Given the description of an element on the screen output the (x, y) to click on. 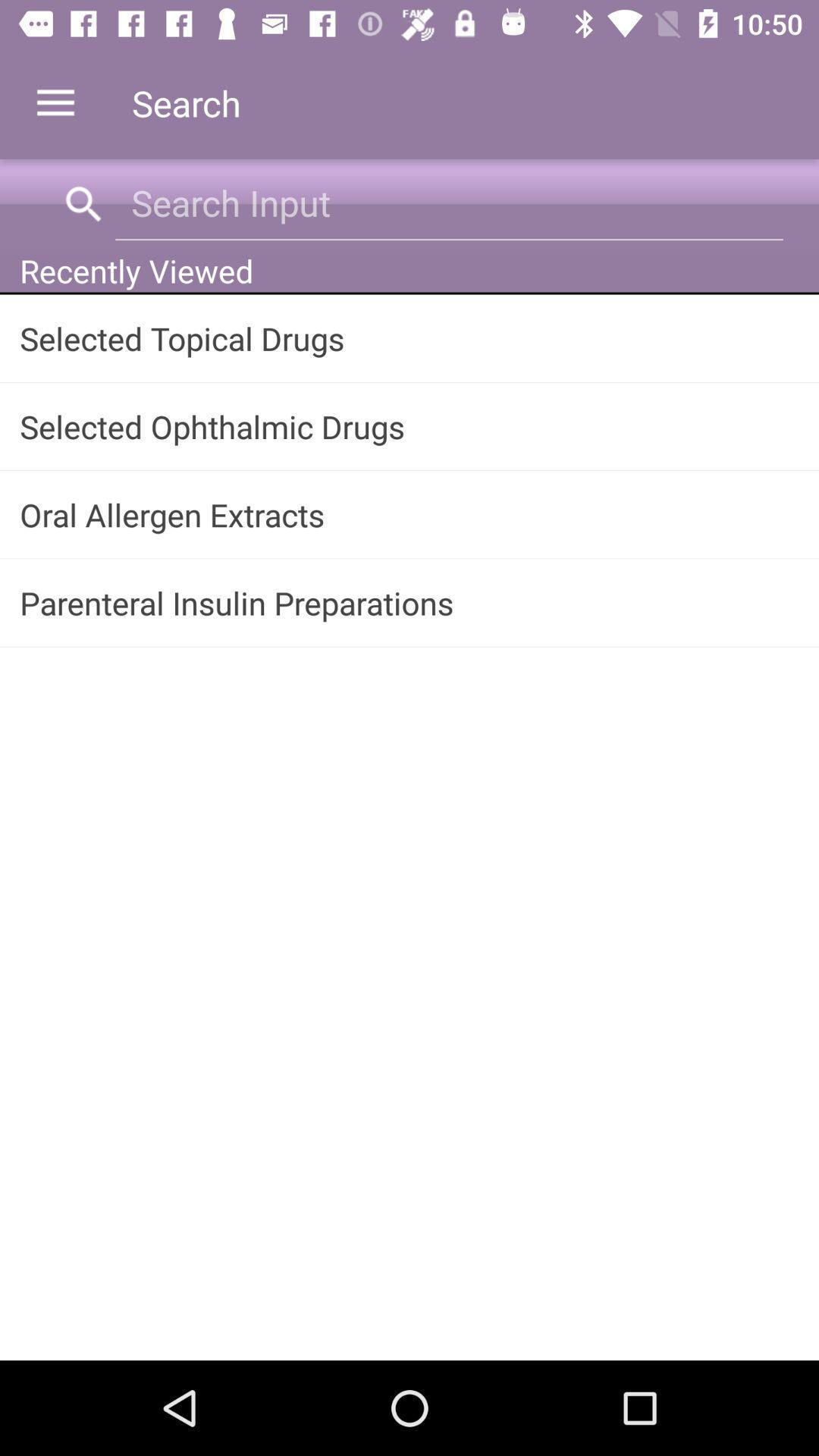
search input (449, 202)
